Given the description of an element on the screen output the (x, y) to click on. 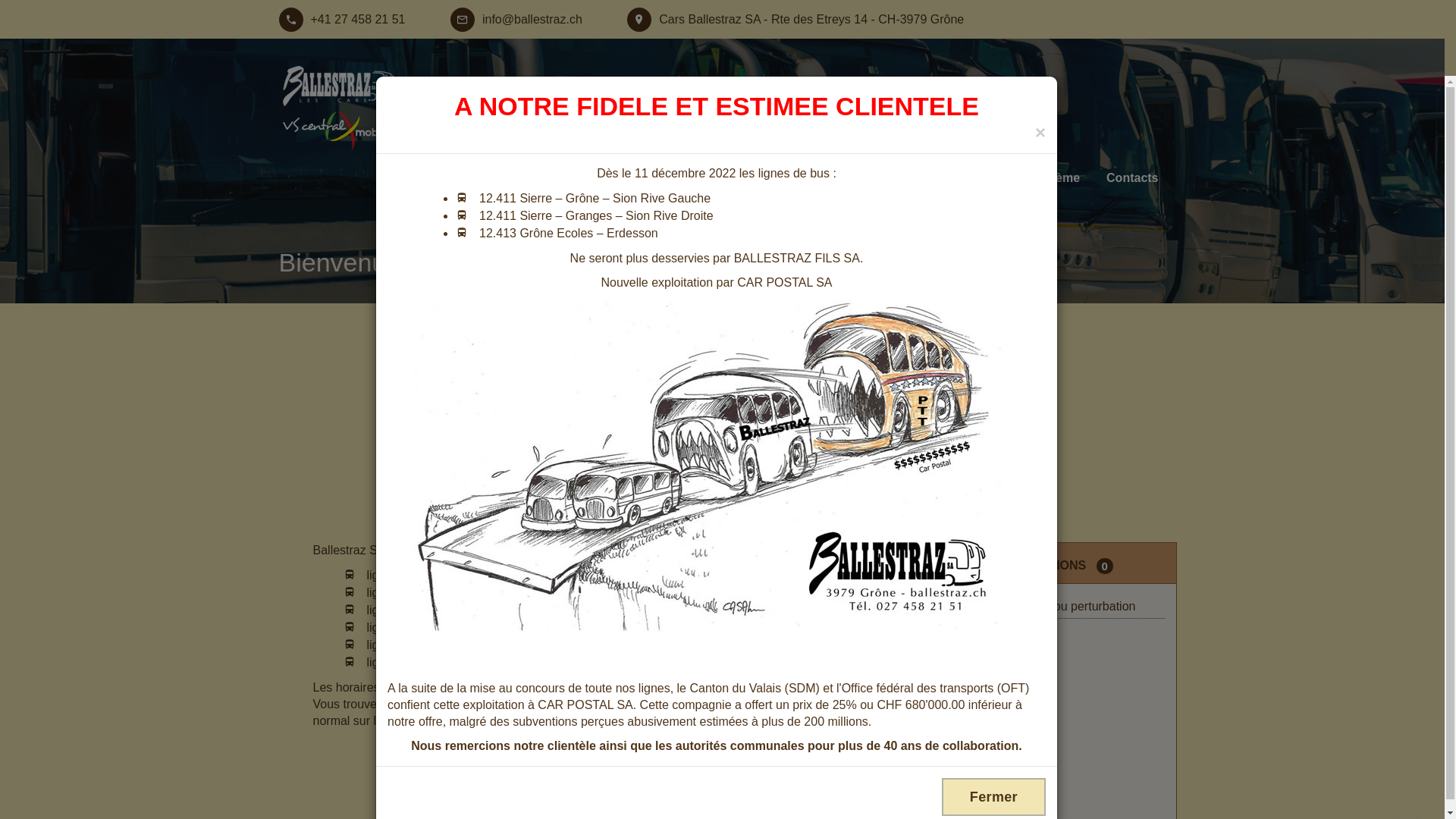
Entreprise Element type: text (639, 178)
Bus de nuit "Verre Luisant" Element type: text (933, 178)
info@ballestraz.ch Element type: text (516, 19)
Fermer Element type: text (993, 796)
Lignes et horaires Element type: text (527, 178)
+41 27 458 21 51 Element type: text (342, 19)
Excursions Element type: text (731, 178)
Contacts Element type: text (1131, 178)
site des CFF Element type: text (538, 720)
Arthur Element type: text (809, 178)
COVID-19 Element type: text (417, 178)
